Given the description of an element on the screen output the (x, y) to click on. 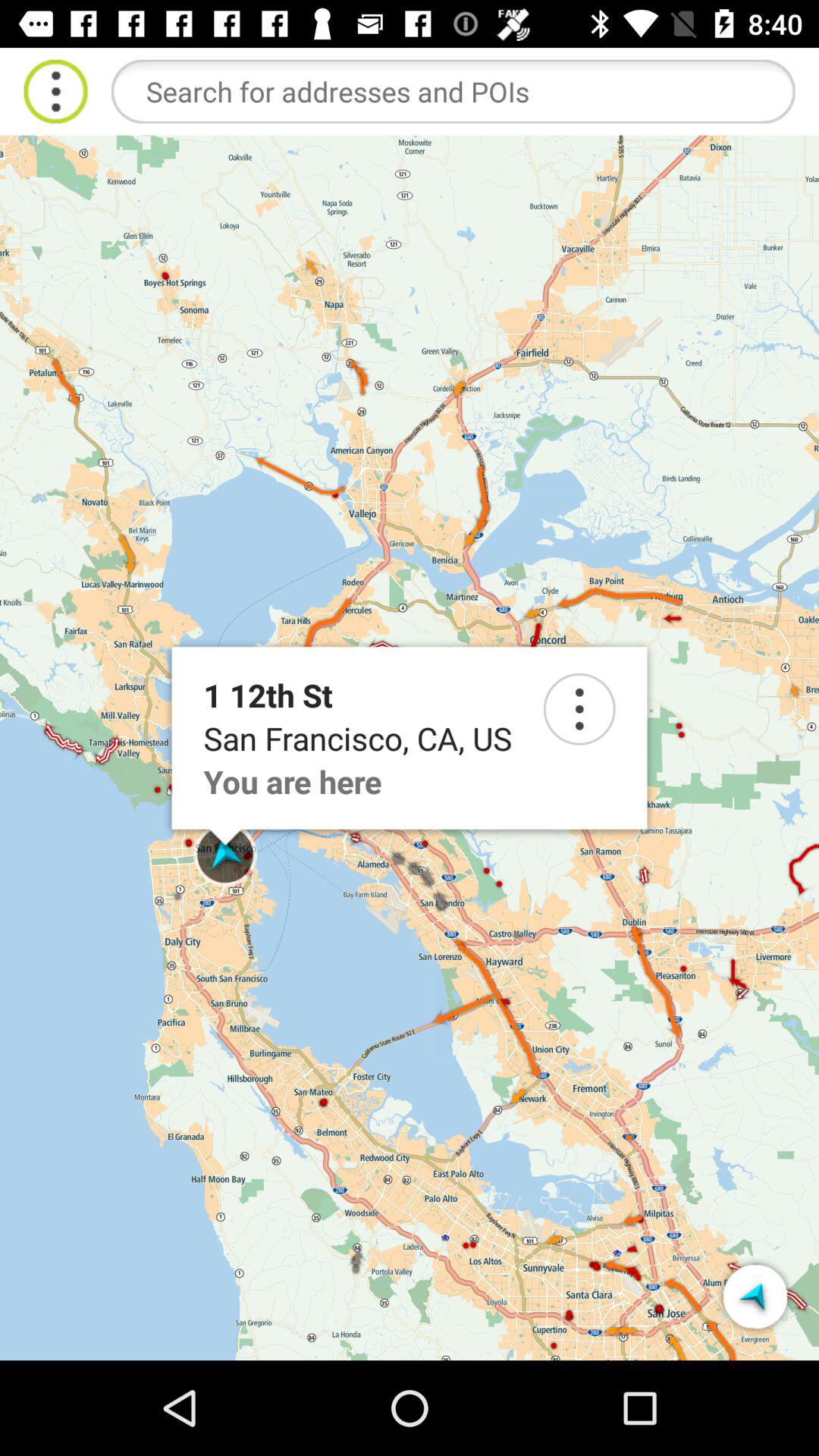
go to search (579, 709)
